Given the description of an element on the screen output the (x, y) to click on. 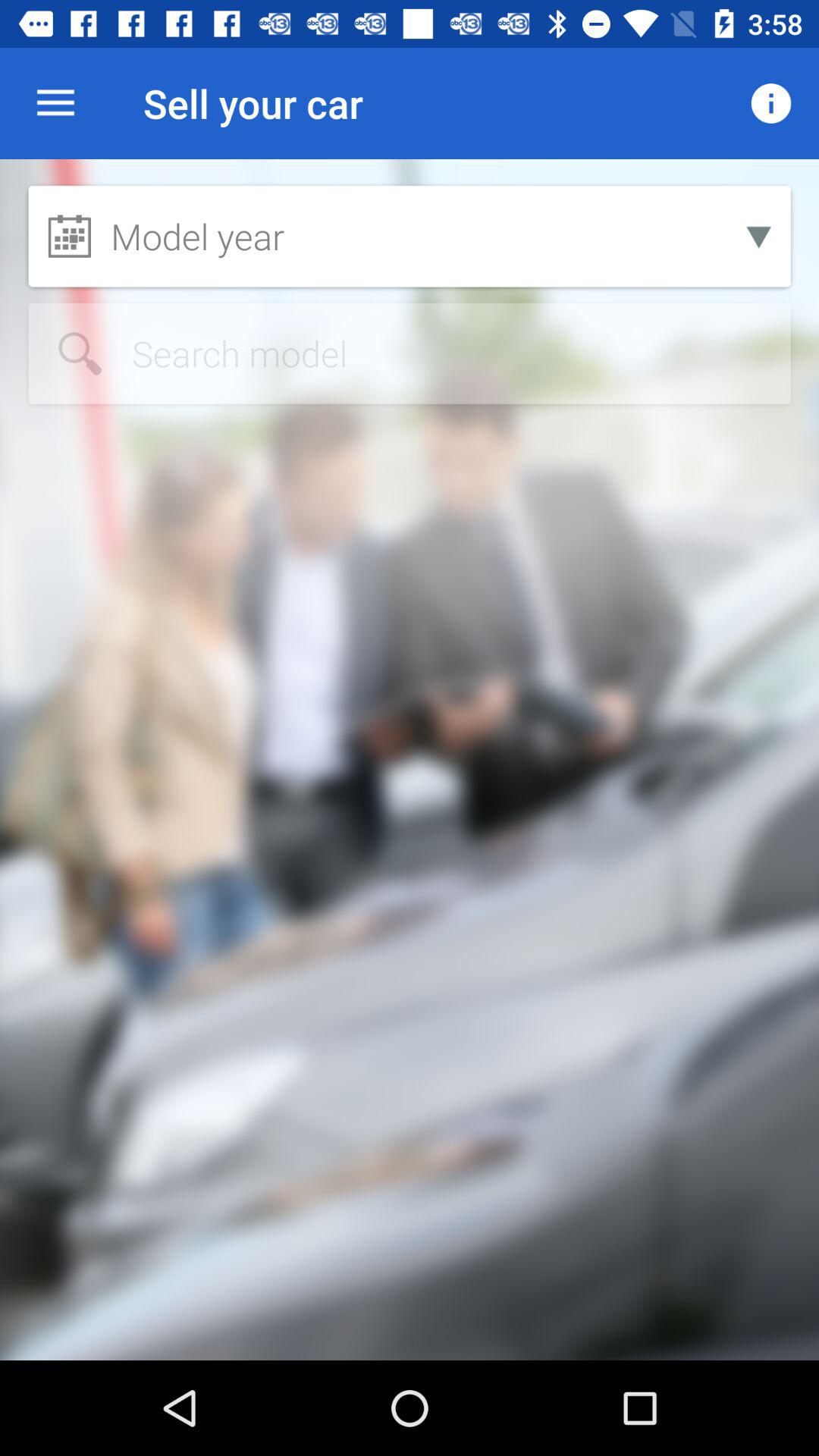
search model (409, 353)
